Given the description of an element on the screen output the (x, y) to click on. 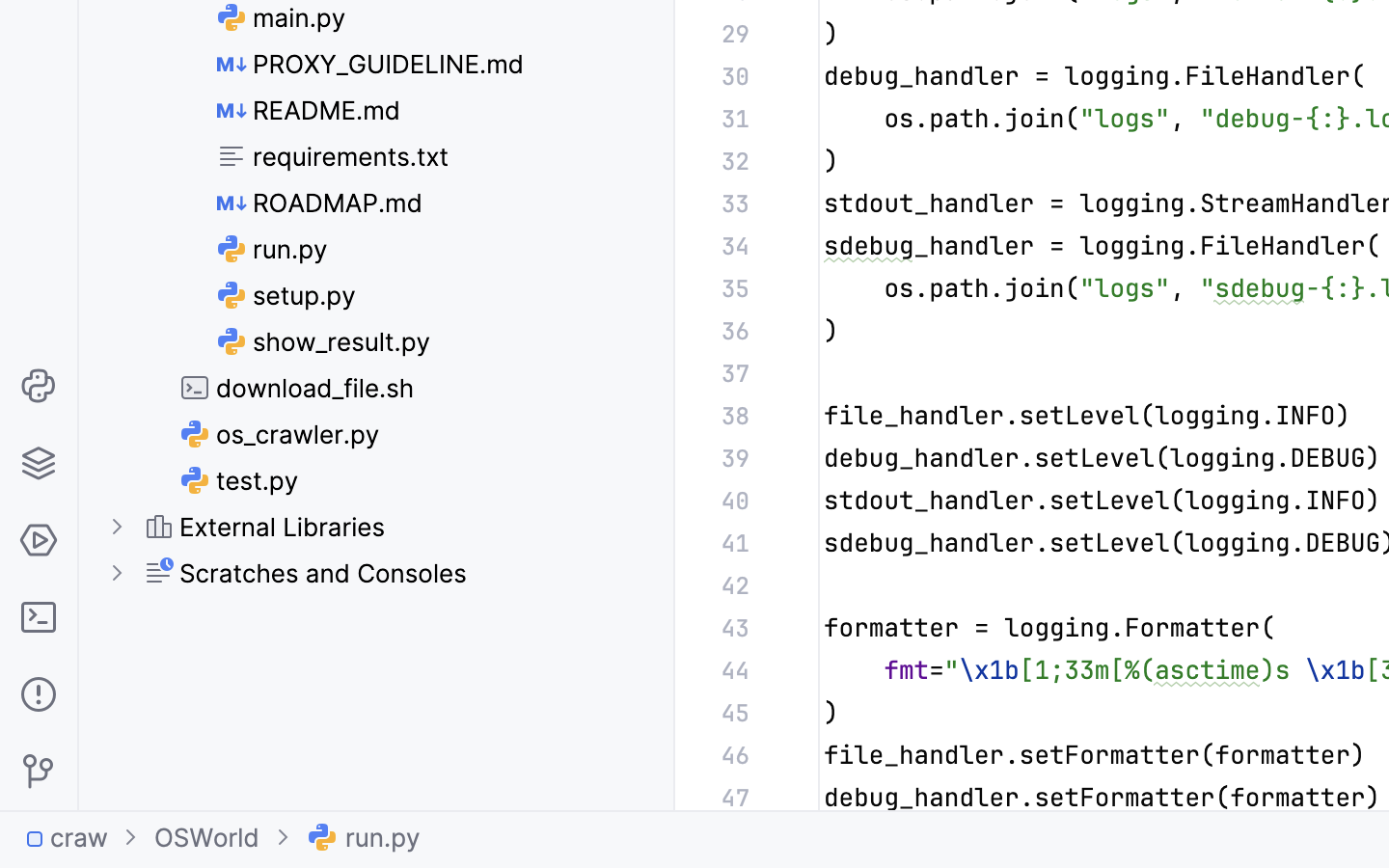
run.py Element type: AXStaticText (272, 248)
requirements.txt Element type: AXStaticText (333, 156)
test.py Element type: AXStaticText (239, 480)
README.md Element type: AXStaticText (309, 109)
ROADMAP.md Element type: AXStaticText (320, 202)
